Given the description of an element on the screen output the (x, y) to click on. 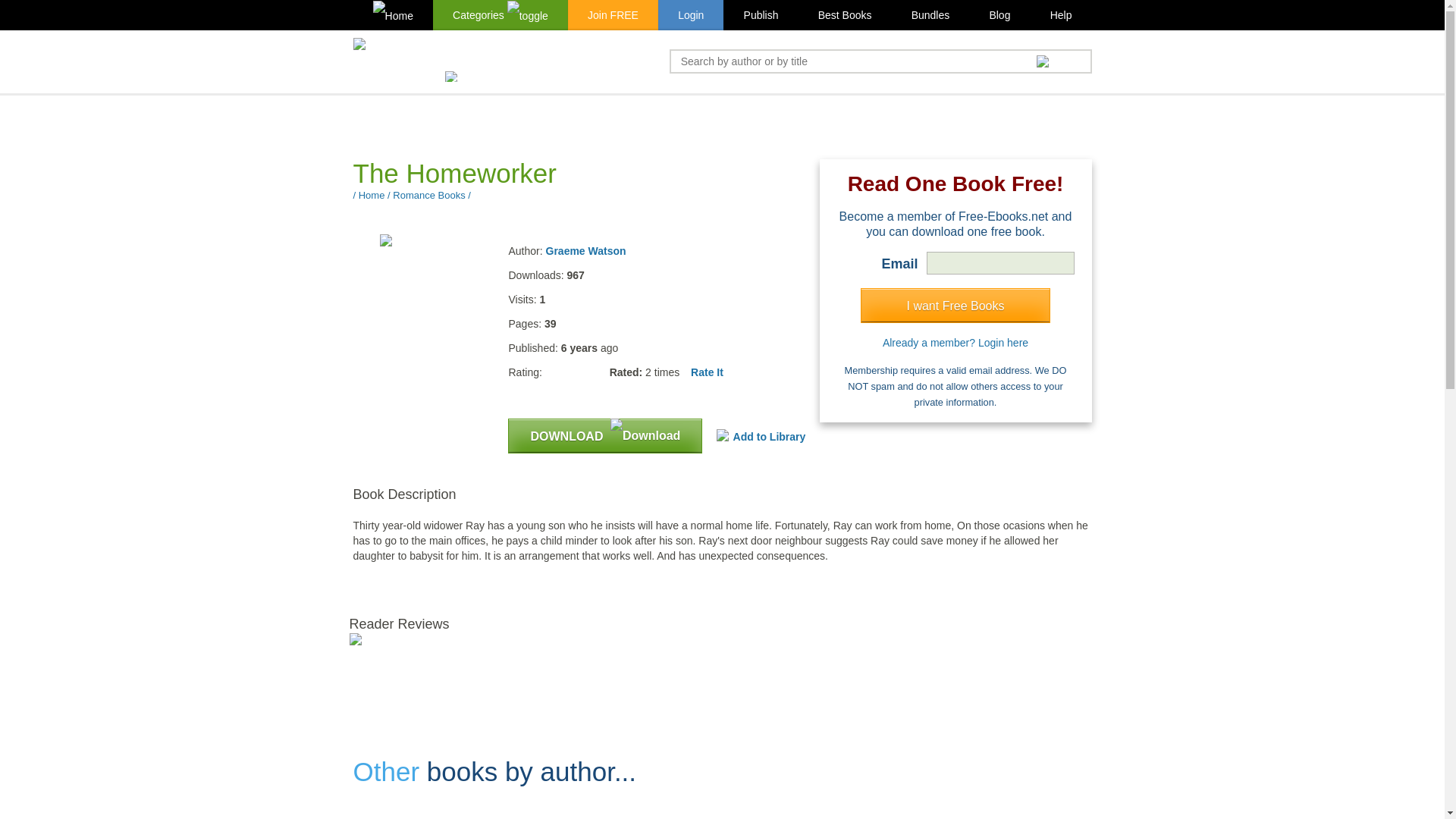
Categories (499, 15)
